Given the description of an element on the screen output the (x, y) to click on. 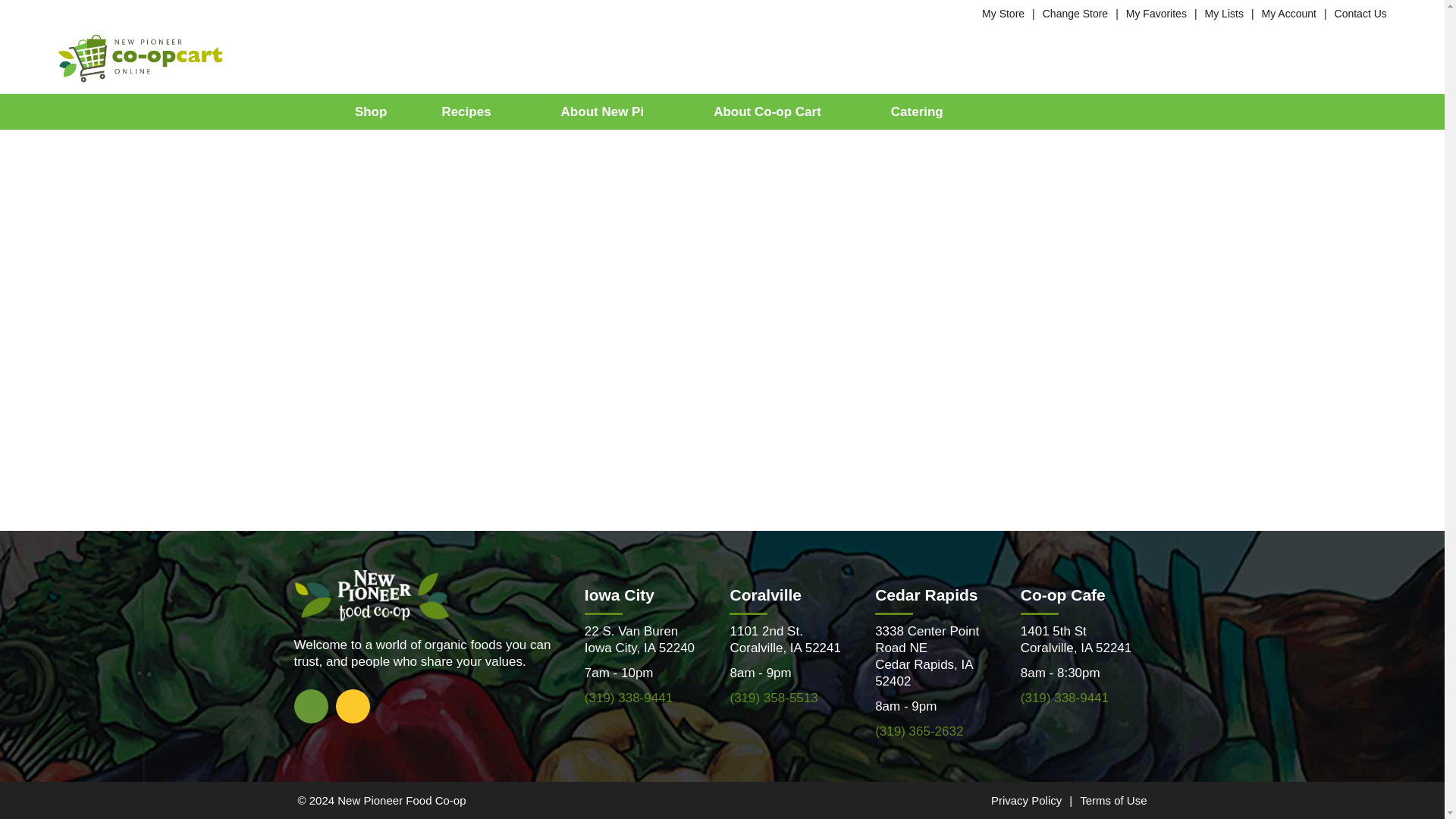
Contact Us (1361, 13)
instagram (351, 705)
Recipes (472, 111)
Catering (917, 111)
About New Pi (610, 111)
My Favorites (1155, 13)
facebook (311, 705)
Terms of Use (1113, 799)
Privacy Policy (1026, 799)
My Store (1003, 13)
